Given the description of an element on the screen output the (x, y) to click on. 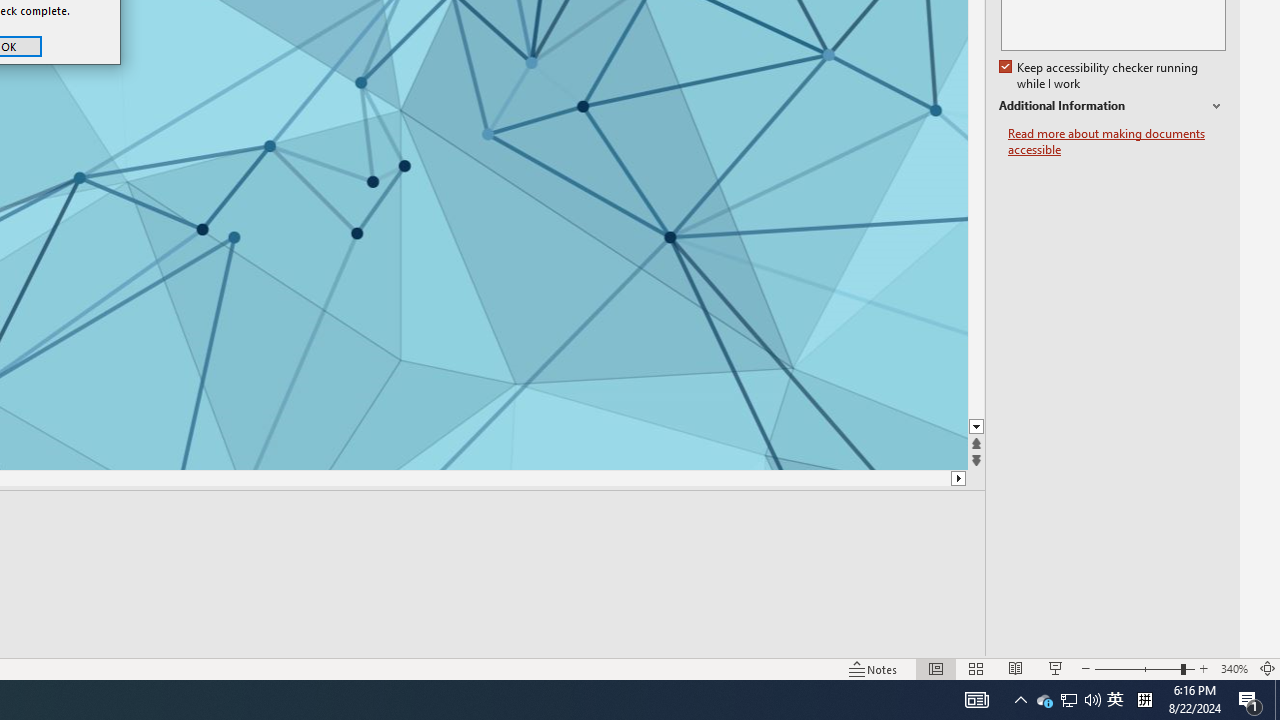
Zoom 340% (1234, 668)
Action Center, 1 new notification (1250, 699)
